Given the description of an element on the screen output the (x, y) to click on. 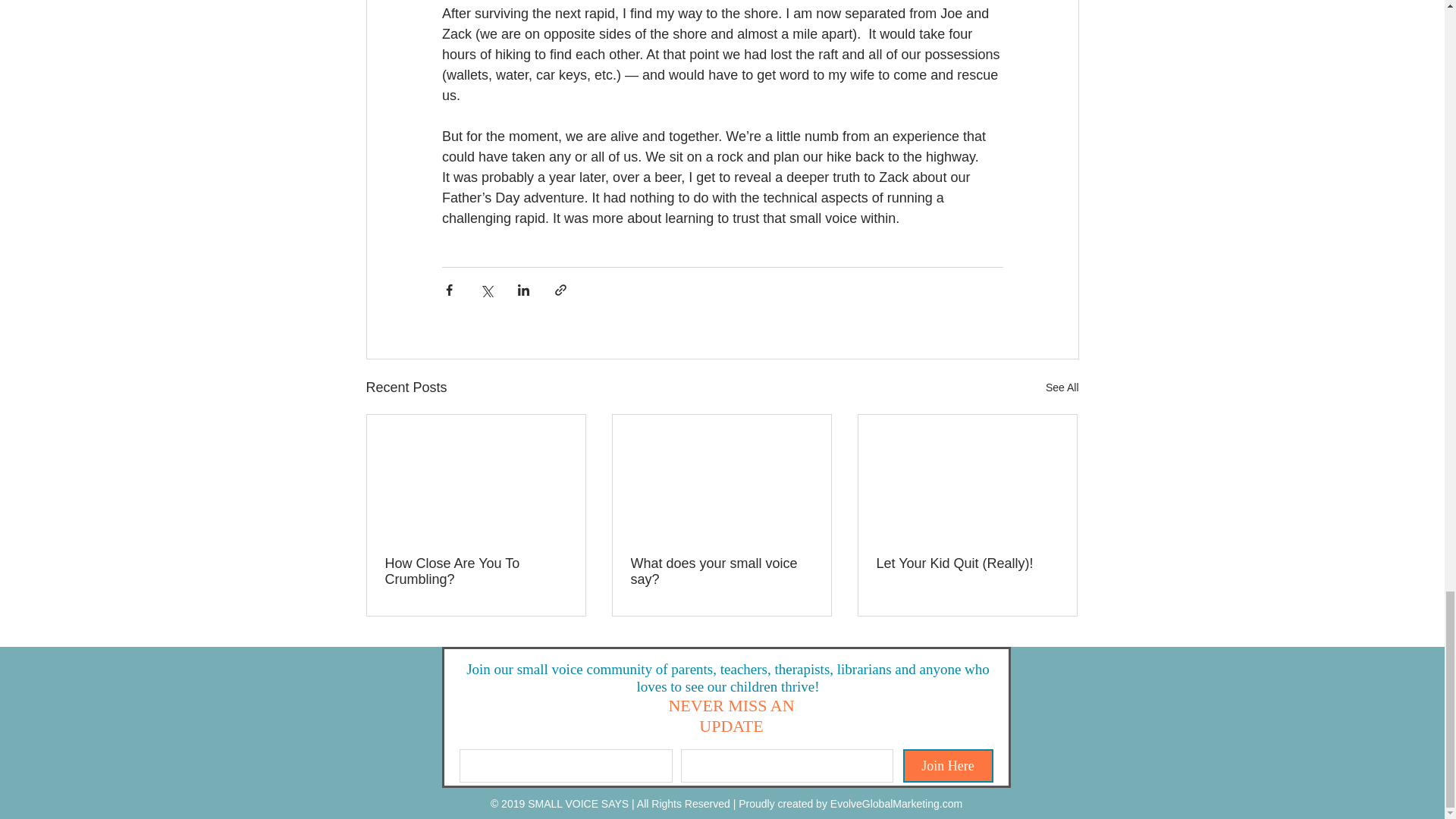
See All (1061, 387)
How Close Are You To Crumbling? (476, 572)
What does your small voice say? (721, 572)
Join Here (947, 765)
